Given the description of an element on the screen output the (x, y) to click on. 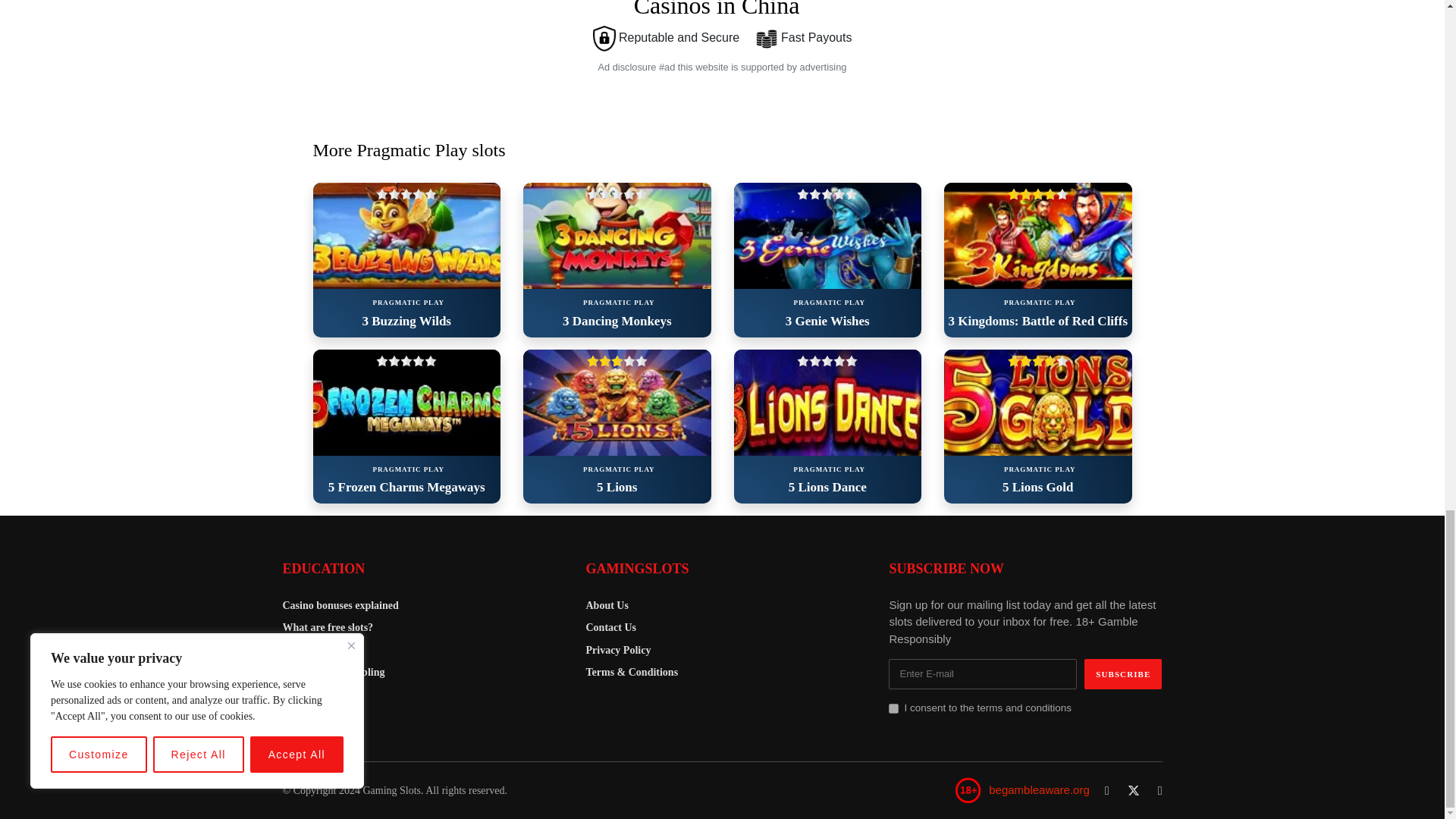
3 Kingdoms: Battle of Red Cliffs slot (1037, 235)
3 Genie Wishes slot (827, 235)
Subscribe (1122, 674)
3 Buzzing Wilds slot (406, 235)
1 (893, 708)
3 Dancing Monkeys slot (616, 235)
